Given the description of an element on the screen output the (x, y) to click on. 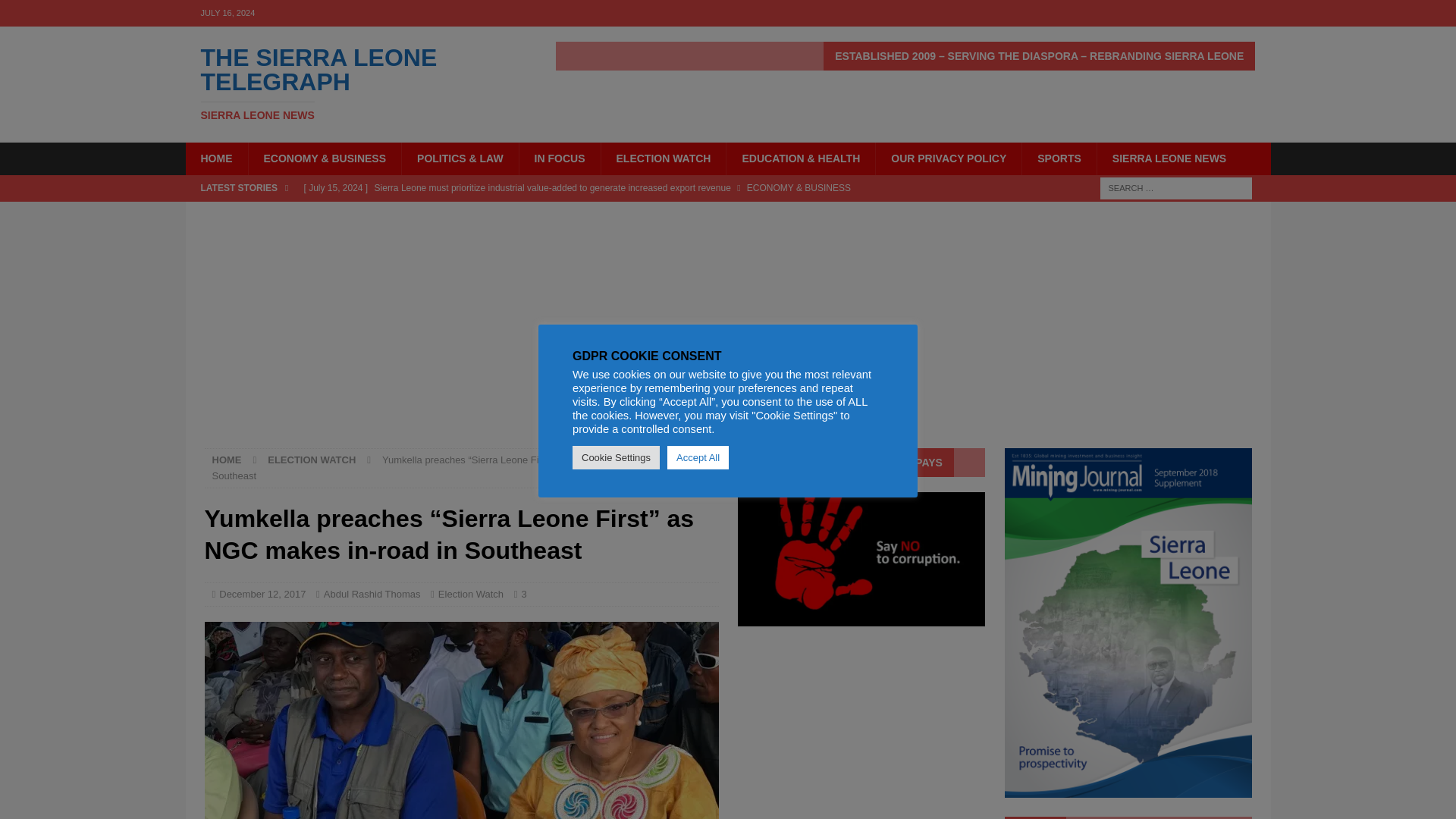
Abdul Rashid Thomas (371, 593)
HOME (215, 158)
December 12, 2017 (262, 593)
The Sierra Leone Telegraph (356, 83)
OUR PRIVACY POLICY (948, 158)
SPORTS (1059, 158)
Yumkella in kailahun 2 (462, 720)
IN FOCUS (558, 158)
HOME (226, 460)
SIERRA LEONE NEWS (1168, 158)
ELECTION WATCH (662, 158)
Search (356, 83)
